Given the description of an element on the screen output the (x, y) to click on. 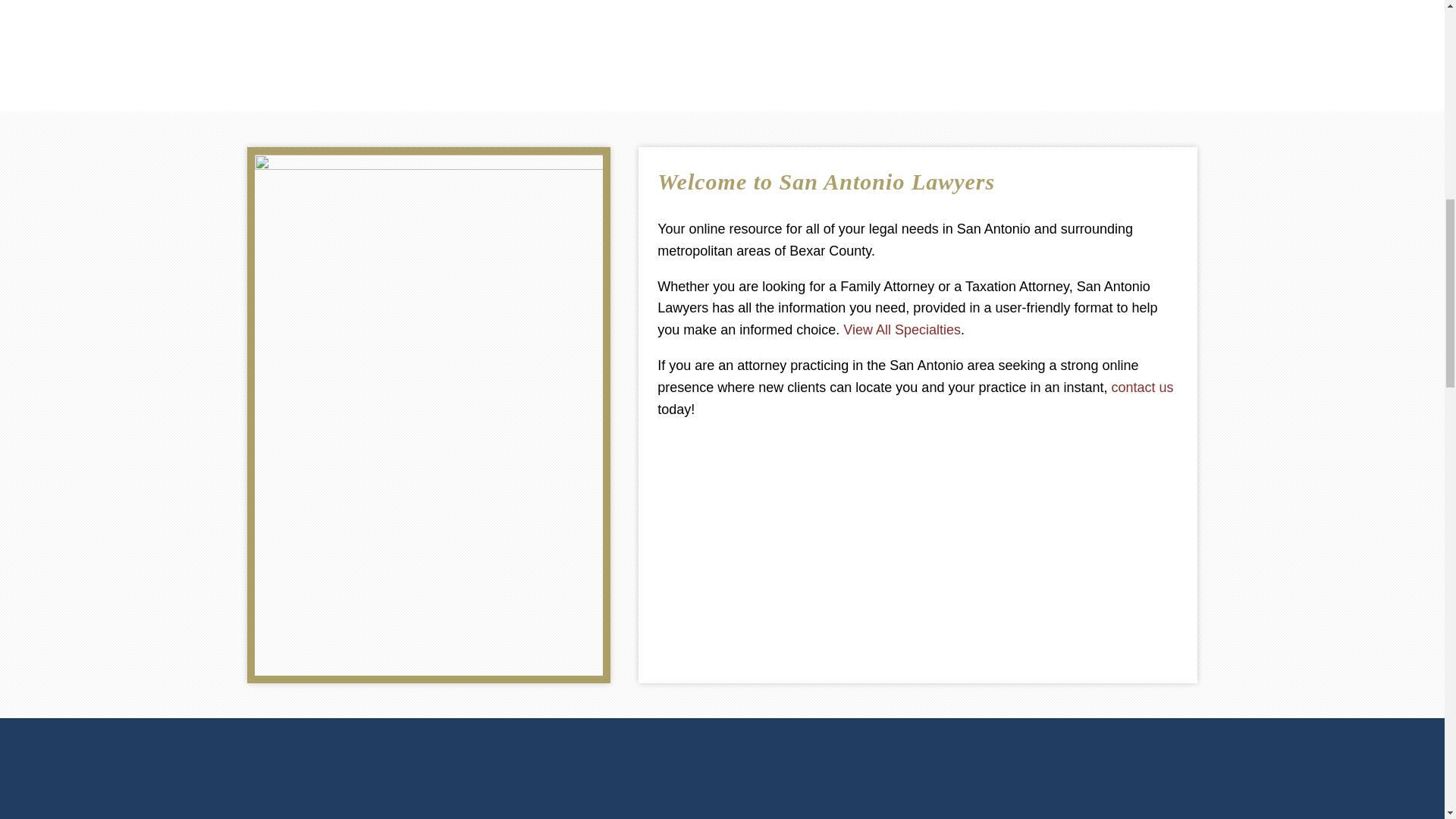
View All Specialties (901, 329)
contact us (1142, 387)
